Given the description of an element on the screen output the (x, y) to click on. 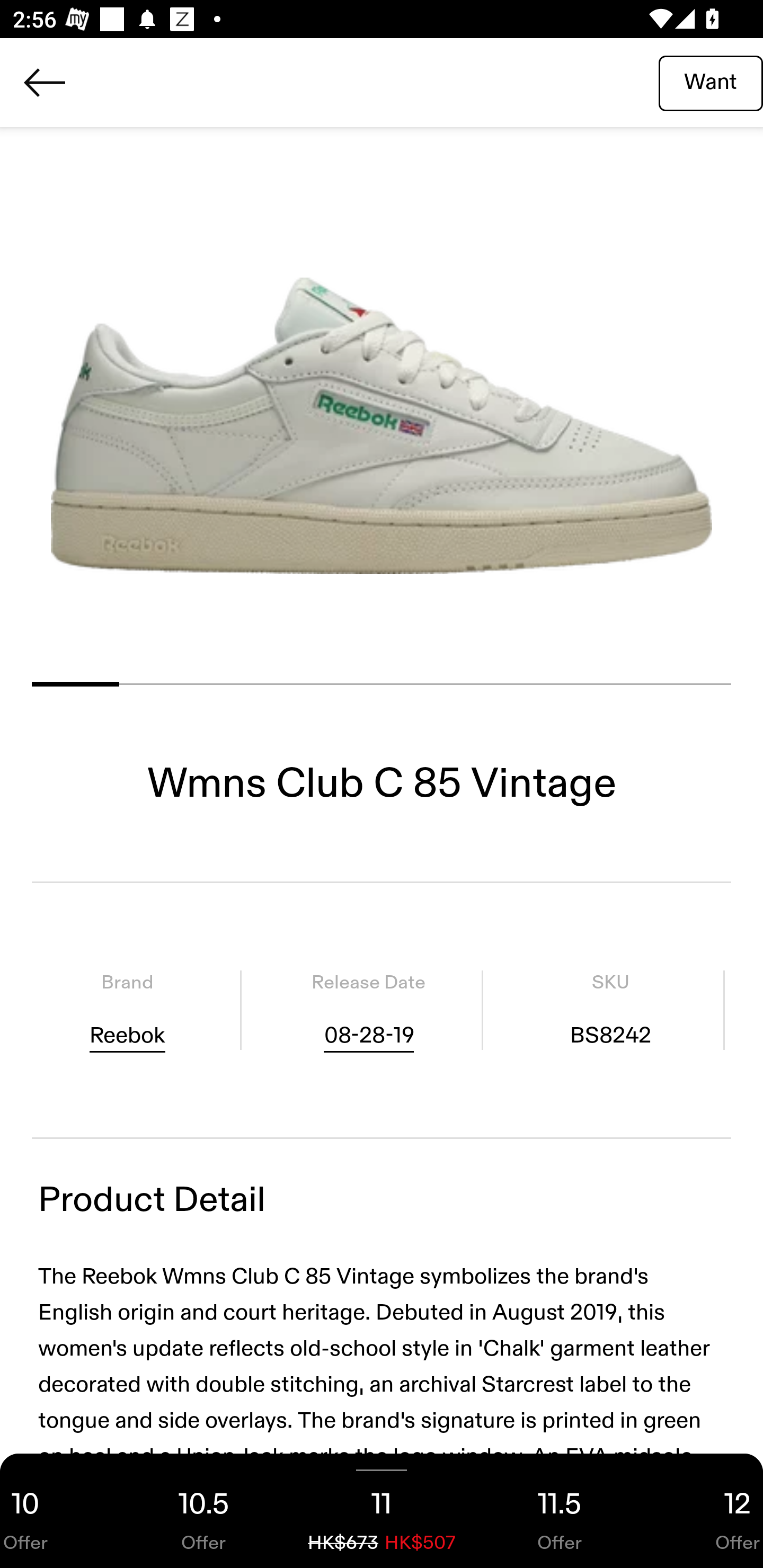
Want (710, 82)
Brand Reebok (126, 1009)
Release Date 08-28-19 (368, 1009)
SKU BS8242 (609, 1009)
10 Offer (57, 1510)
10.5 Offer (203, 1510)
11 HK$673 HK$507 (381, 1510)
11.5 Offer (559, 1510)
12 Offer (705, 1510)
